Given the description of an element on the screen output the (x, y) to click on. 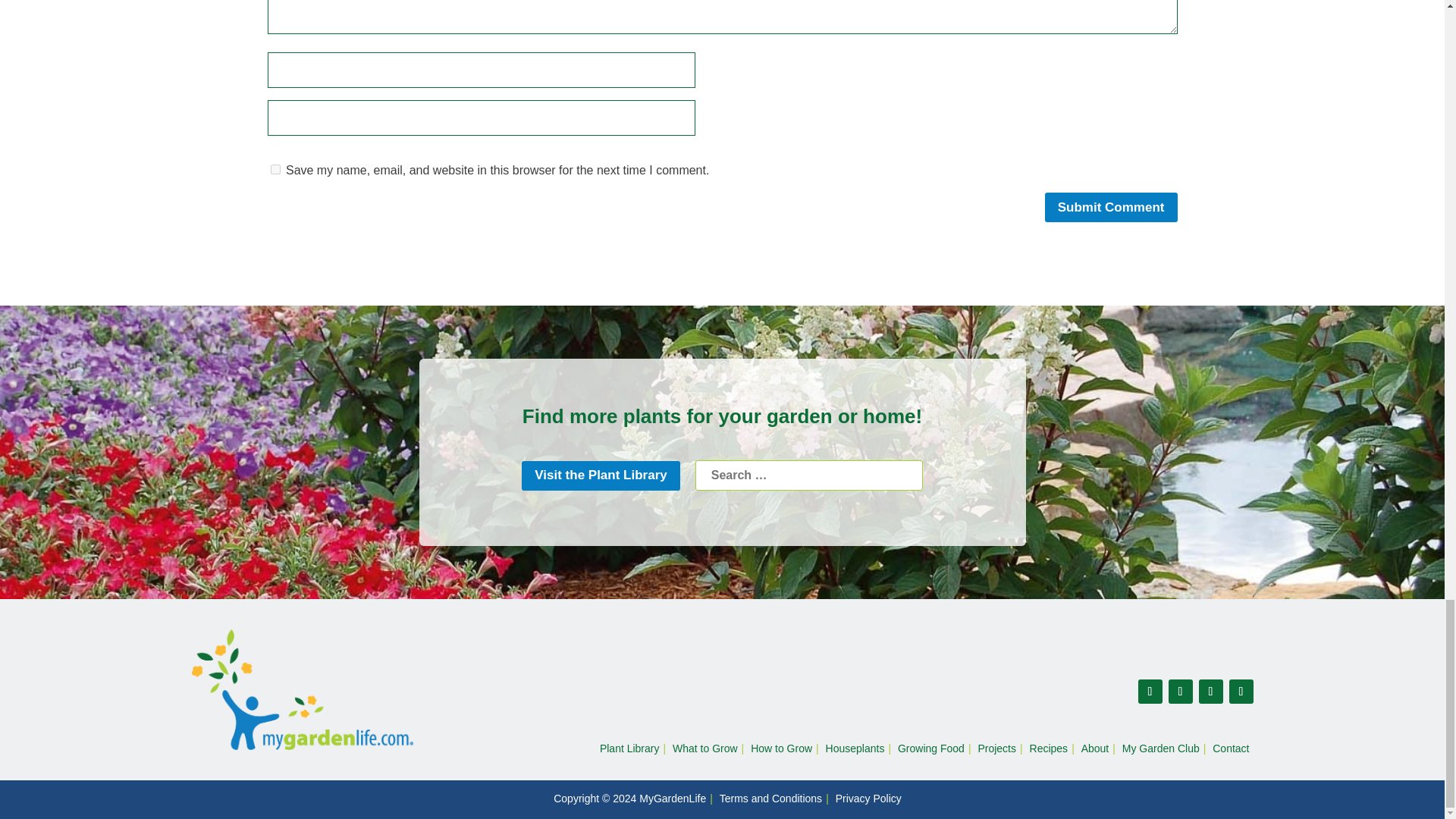
Follow on Youtube (1240, 691)
Search (809, 475)
Follow on Facebook (1149, 691)
yes (274, 169)
Follow on Instagram (1210, 691)
Follow on Pinterest (1179, 691)
